Given the description of an element on the screen output the (x, y) to click on. 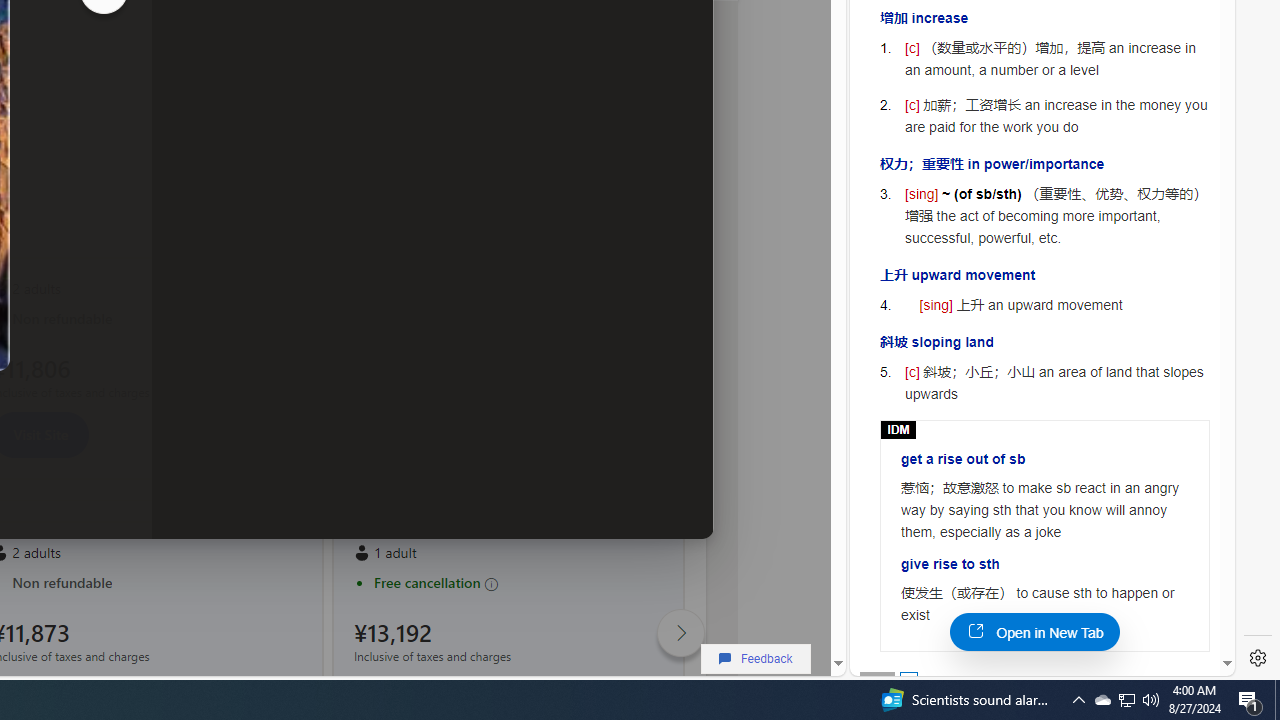
AutomationID: posbtn_1 (908, 680)
